Given the description of an element on the screen output the (x, y) to click on. 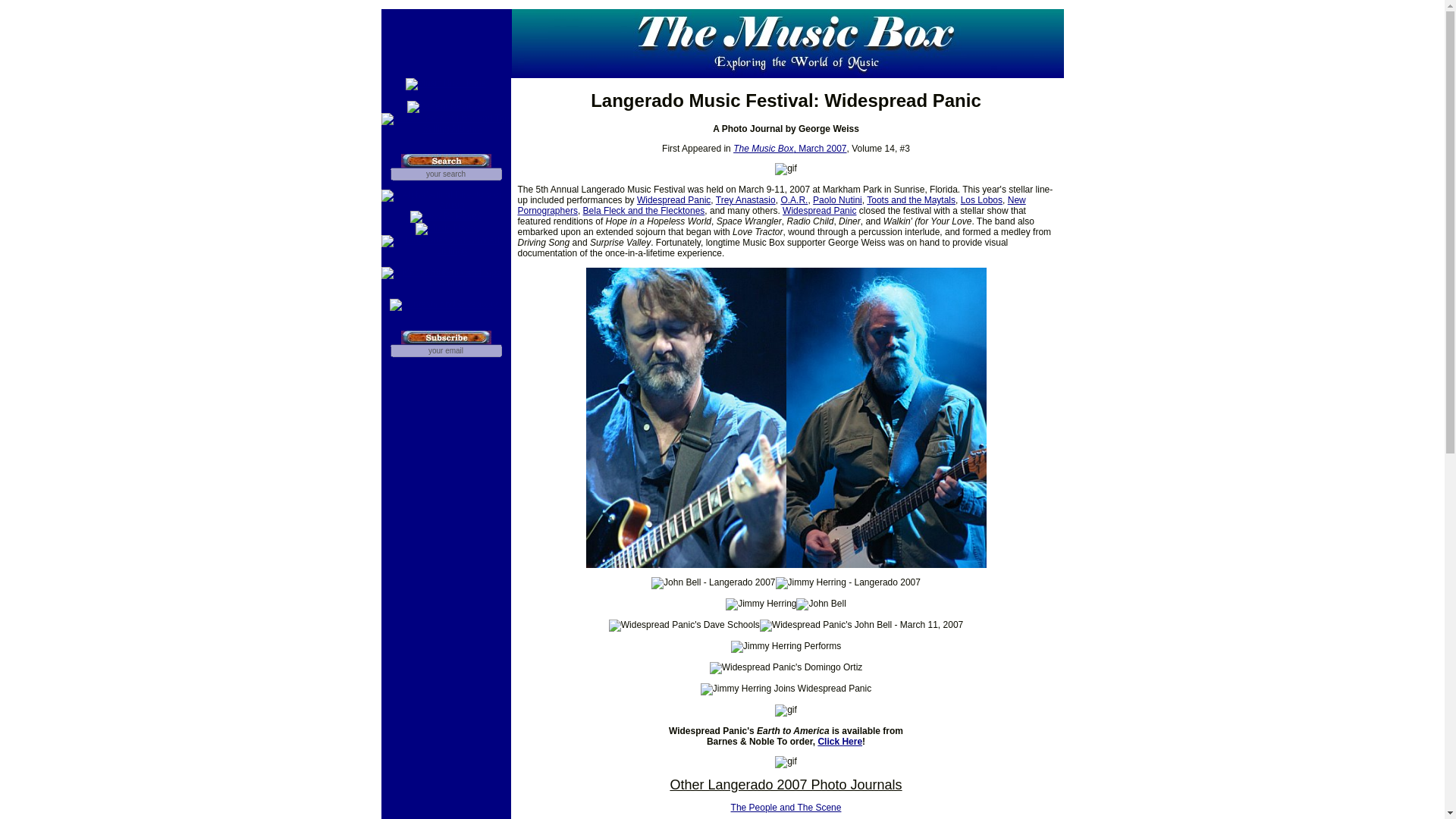
Widespread Panic (673, 199)
Paolo Nutini (836, 199)
Toots and the Maytals (910, 199)
The People and The Scene (785, 807)
Bela Fleck and the Flecktones (643, 210)
your email (445, 350)
The Music Box, March 2007 (789, 148)
Trey Anastasio (746, 199)
Click Here (838, 741)
your search (445, 173)
Widespread Panic (819, 210)
O.A.R. (794, 199)
New Pornographers (770, 205)
Los Lobos (981, 199)
